Given the description of an element on the screen output the (x, y) to click on. 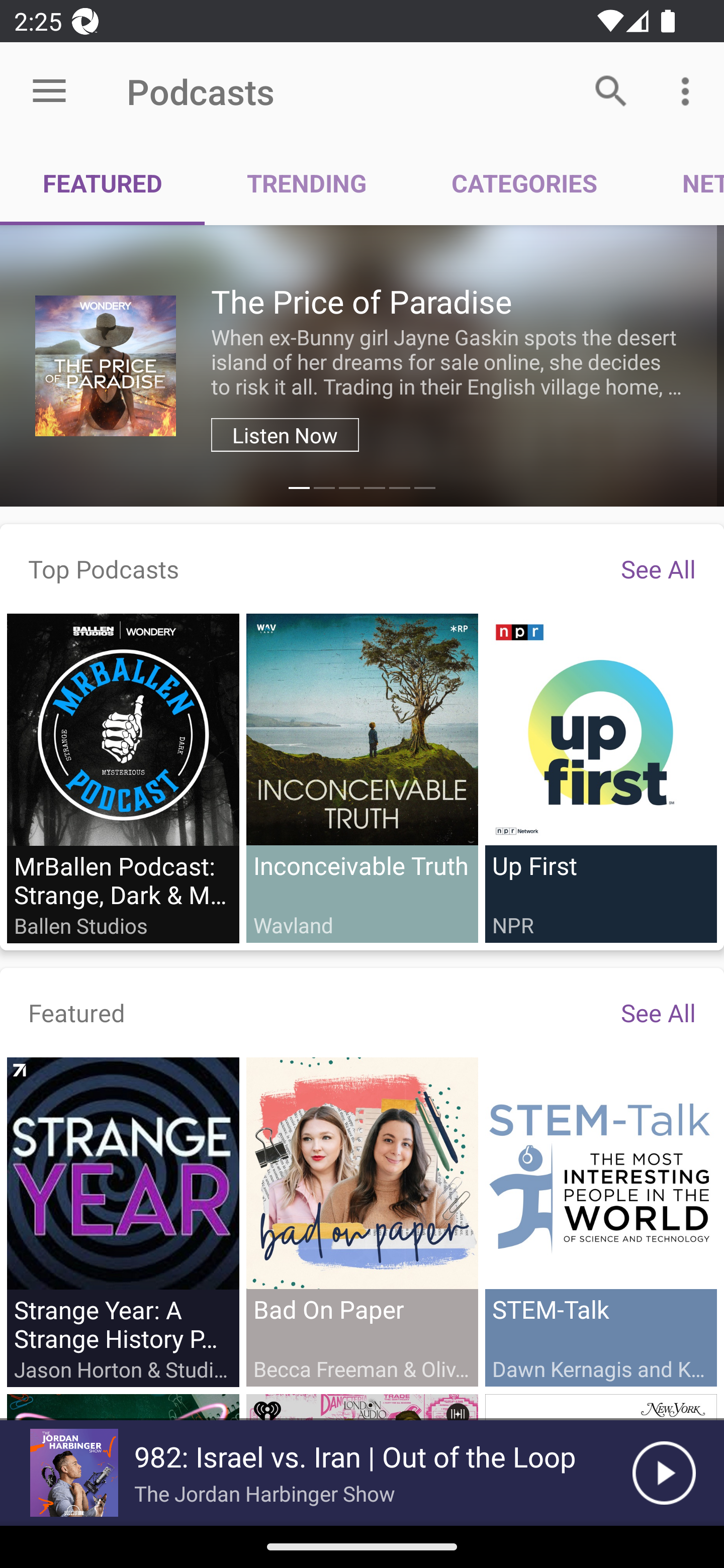
Open menu (49, 91)
Search (611, 90)
More options (688, 90)
FEATURED (102, 183)
TRENDING (306, 183)
CATEGORIES (524, 183)
Top Podcasts (103, 567)
See All (658, 567)
Inconceivable Truth Wavland (361, 777)
Up First NPR (600, 777)
Featured (76, 1011)
See All (658, 1011)
Bad On Paper Becca Freeman & Olivia Muenter (361, 1221)
STEM-Talk Dawn Kernagis and Ken Ford (600, 1221)
Play (663, 1472)
